Given the description of an element on the screen output the (x, y) to click on. 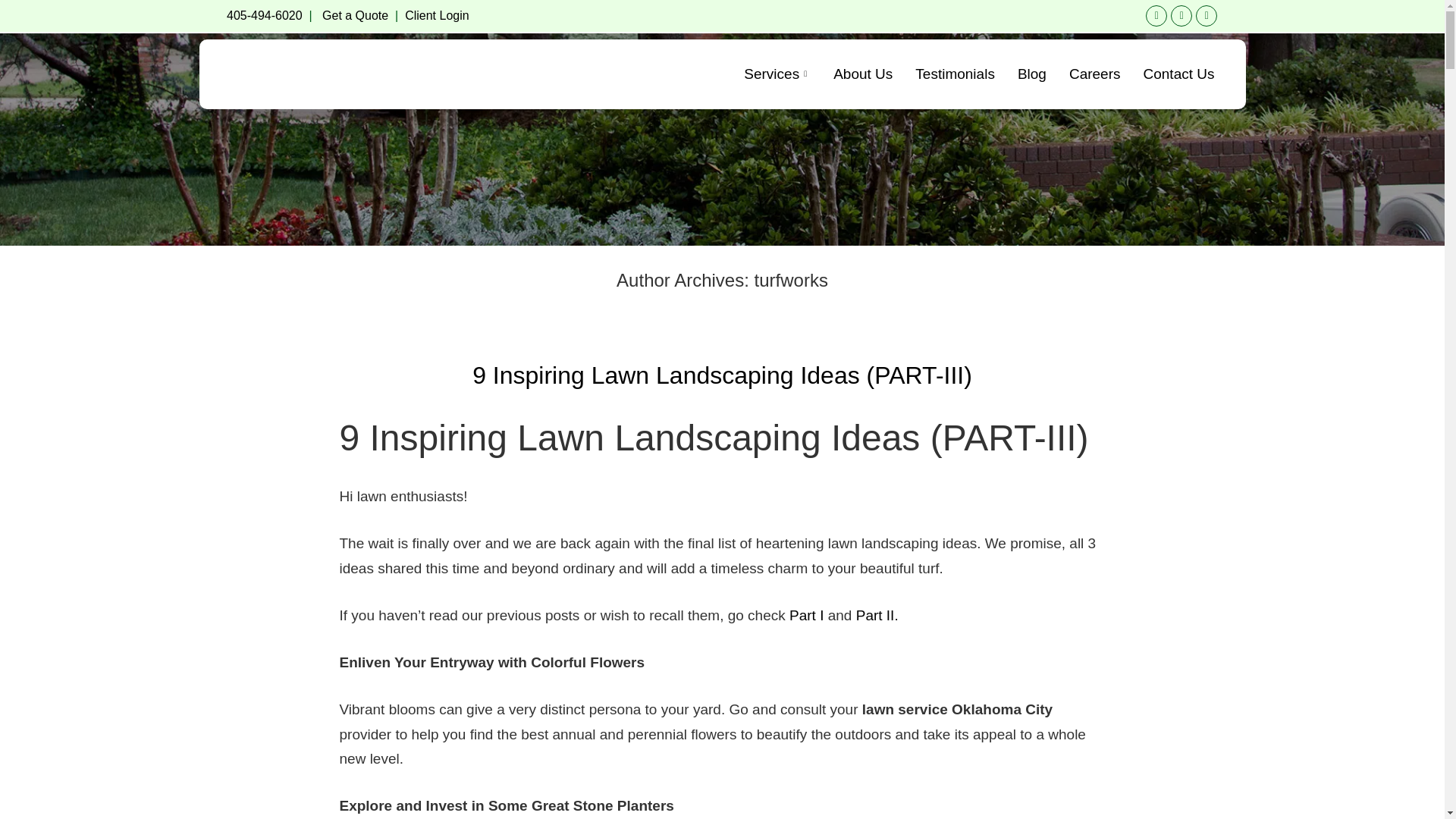
Part II. (877, 615)
Get a Quote (354, 15)
Part I (806, 615)
Testimonials (955, 73)
Blog (1032, 73)
Contact Us (1178, 73)
About Us (863, 73)
Careers (1095, 73)
405-494-6020 (264, 15)
Services (777, 73)
